Given the description of an element on the screen output the (x, y) to click on. 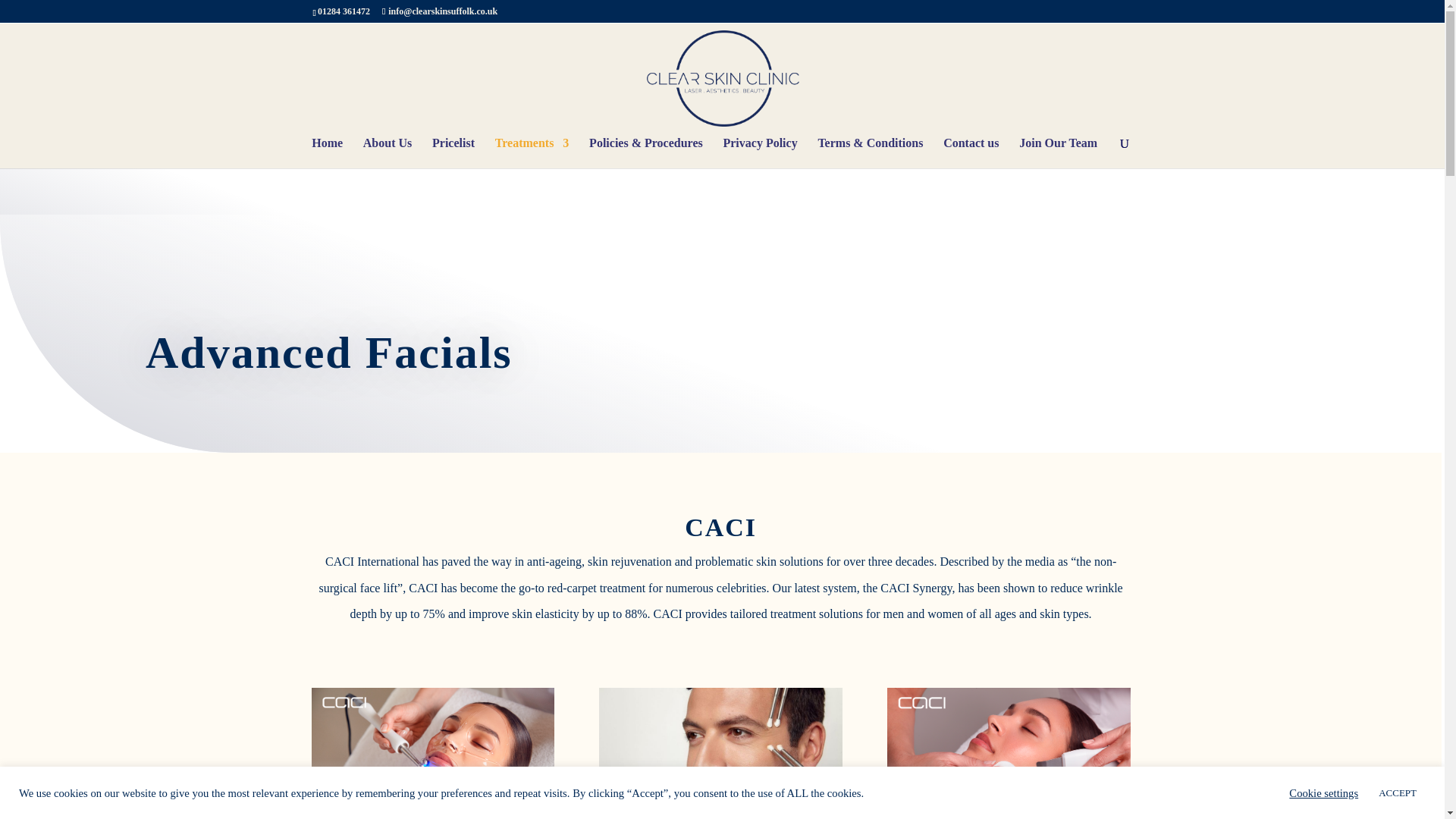
Pricelist (453, 153)
About Us (387, 153)
Join Our Team (1058, 153)
Home (326, 153)
caciman (719, 753)
Treatments (532, 153)
Privacy Policy (759, 153)
hydratoneimage (432, 753)
Contact us (970, 153)
caciim (1007, 753)
